Given the description of an element on the screen output the (x, y) to click on. 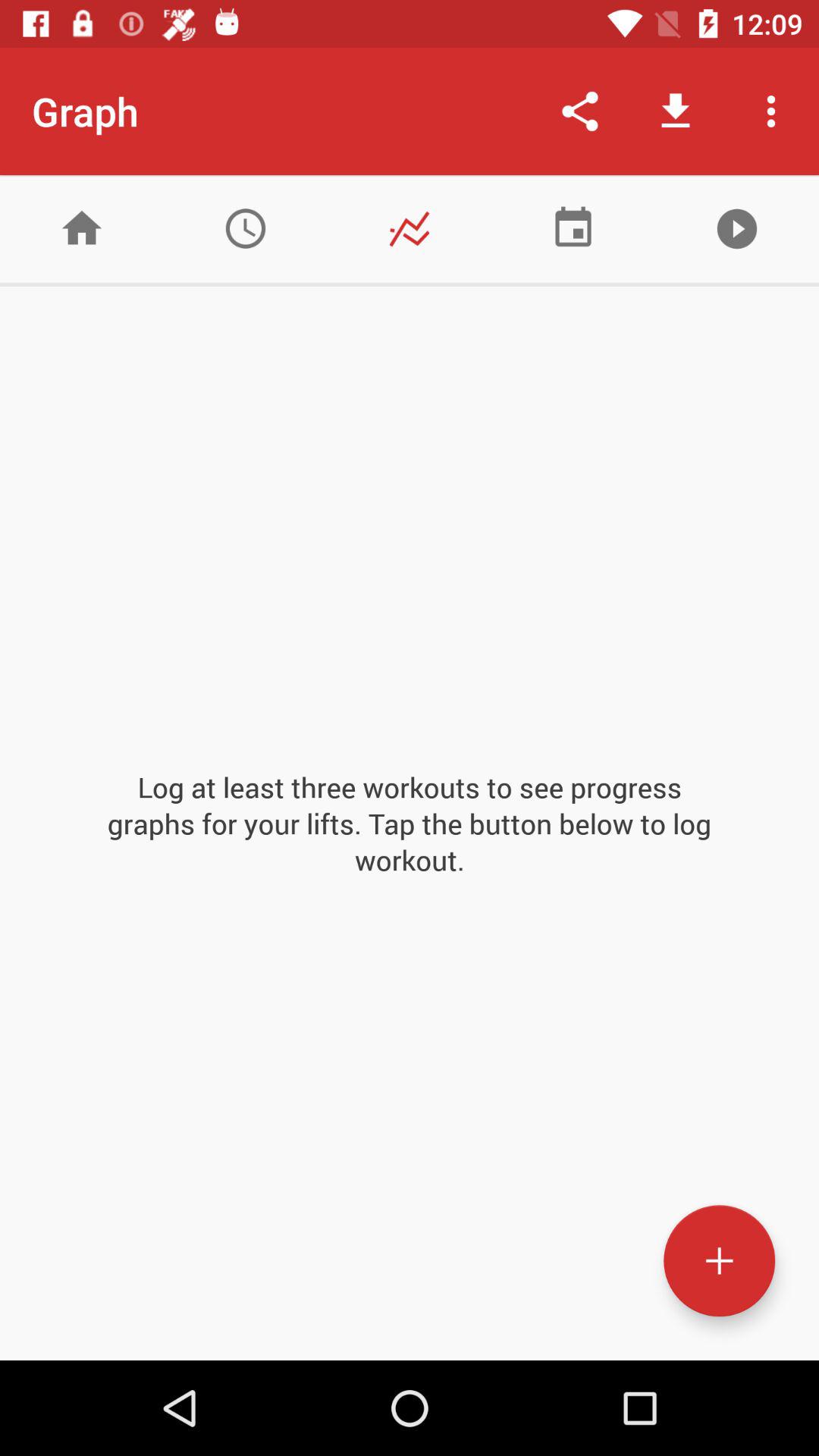
go home (81, 228)
